Given the description of an element on the screen output the (x, y) to click on. 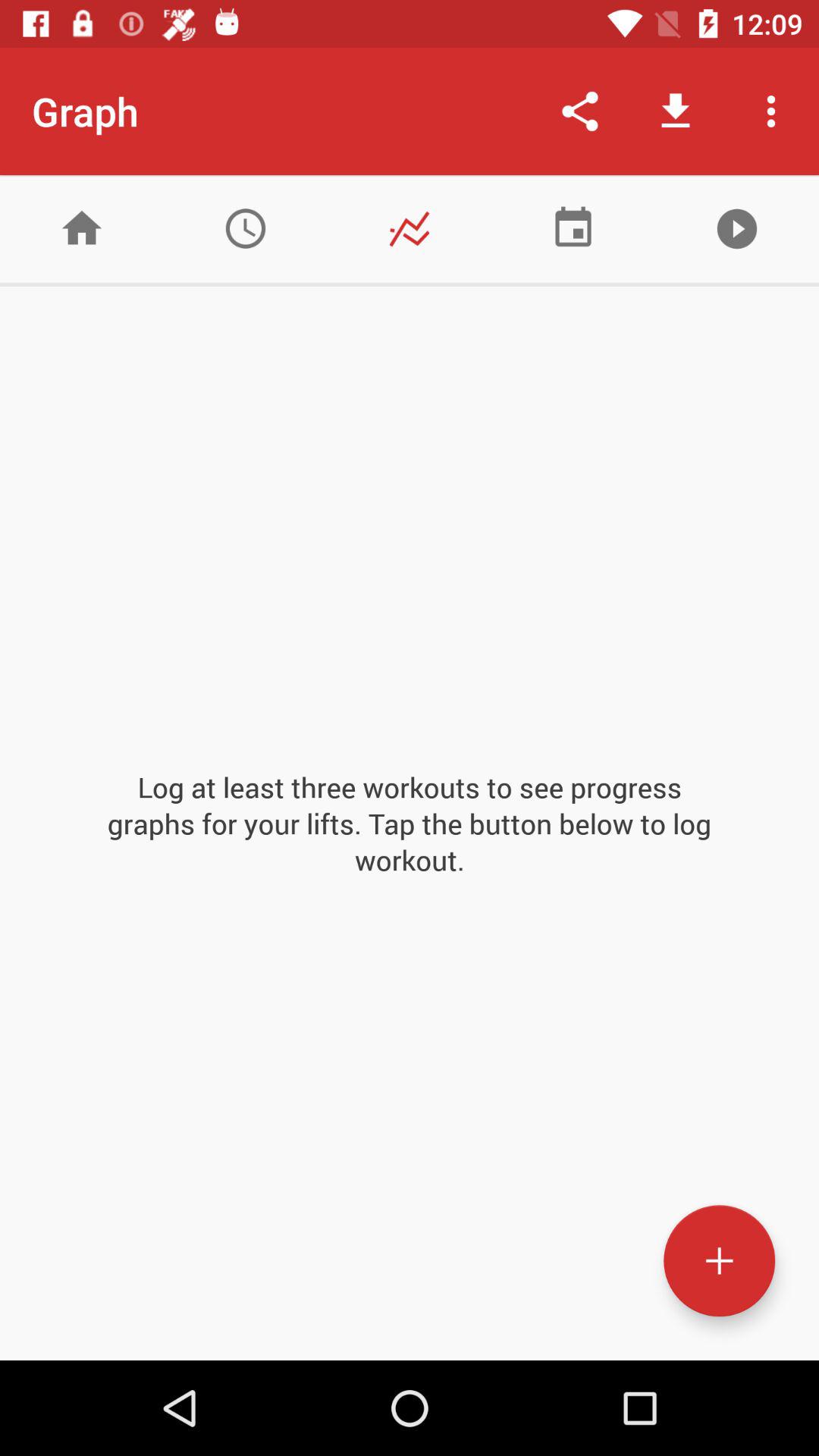
go home (81, 228)
